Given the description of an element on the screen output the (x, y) to click on. 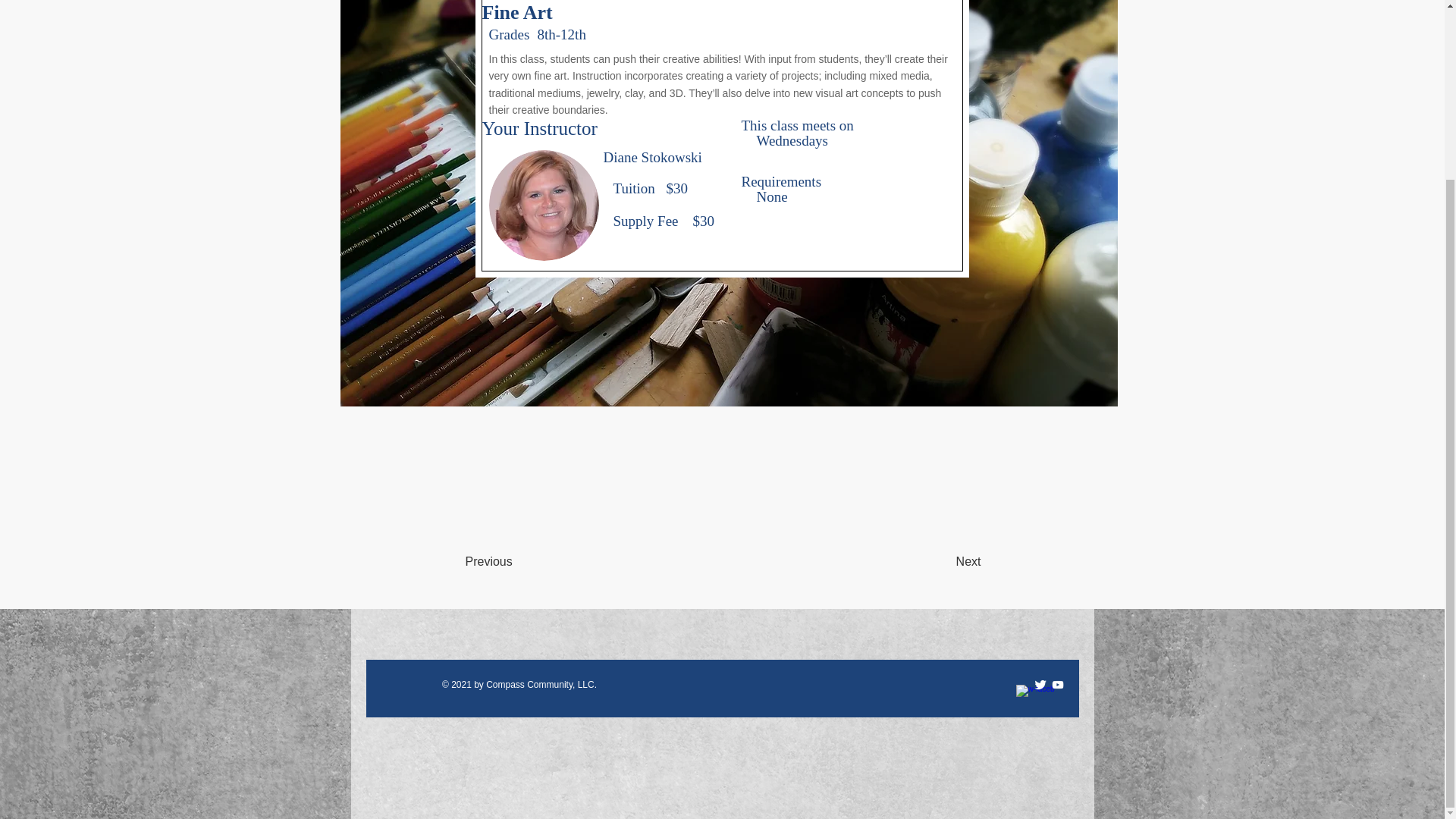
Next (943, 562)
Previous (515, 562)
